Given the description of an element on the screen output the (x, y) to click on. 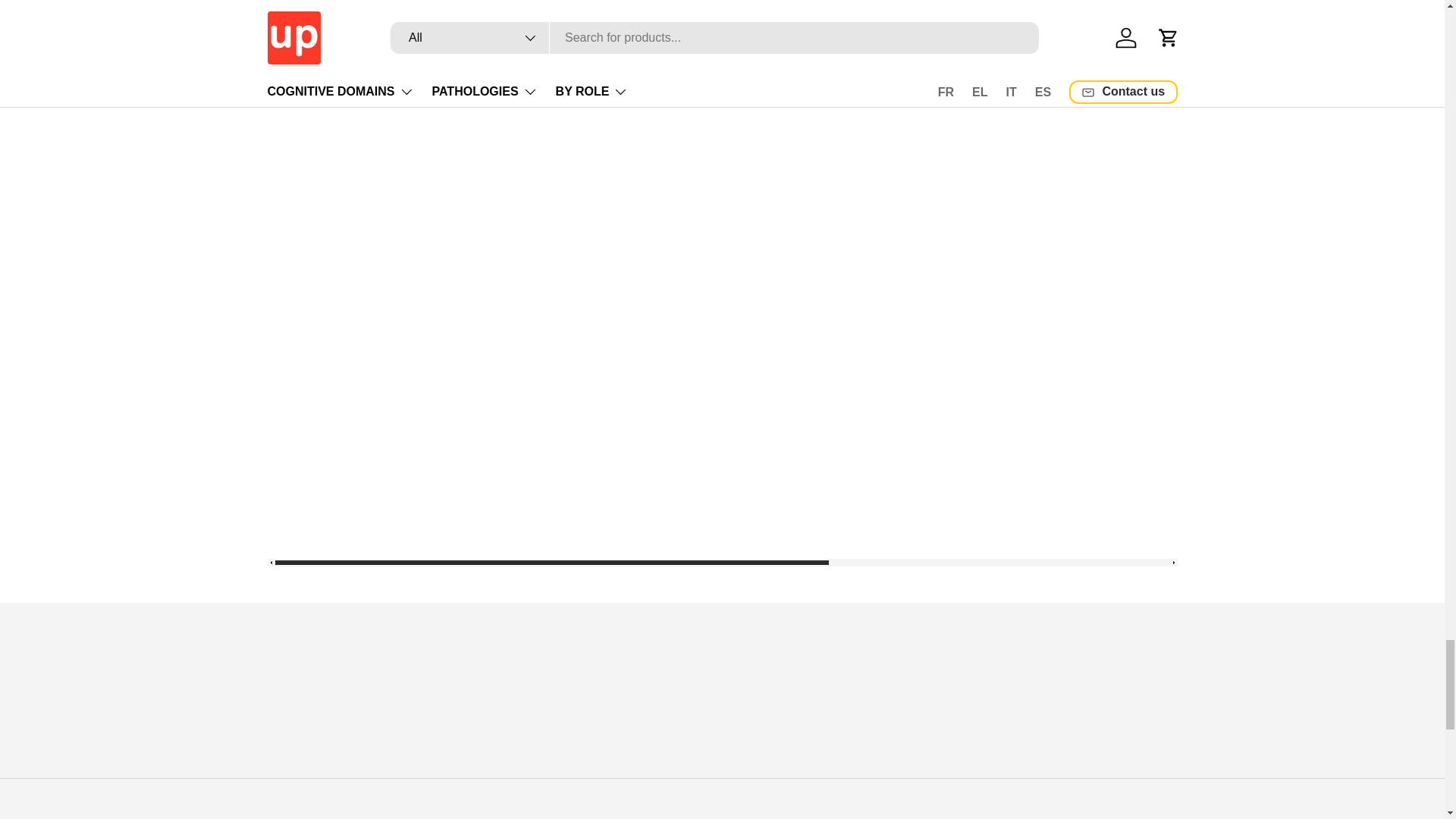
Share on Facebook (523, 70)
Pin on Pinterest (556, 70)
Tweet on X (489, 70)
